Given the description of an element on the screen output the (x, y) to click on. 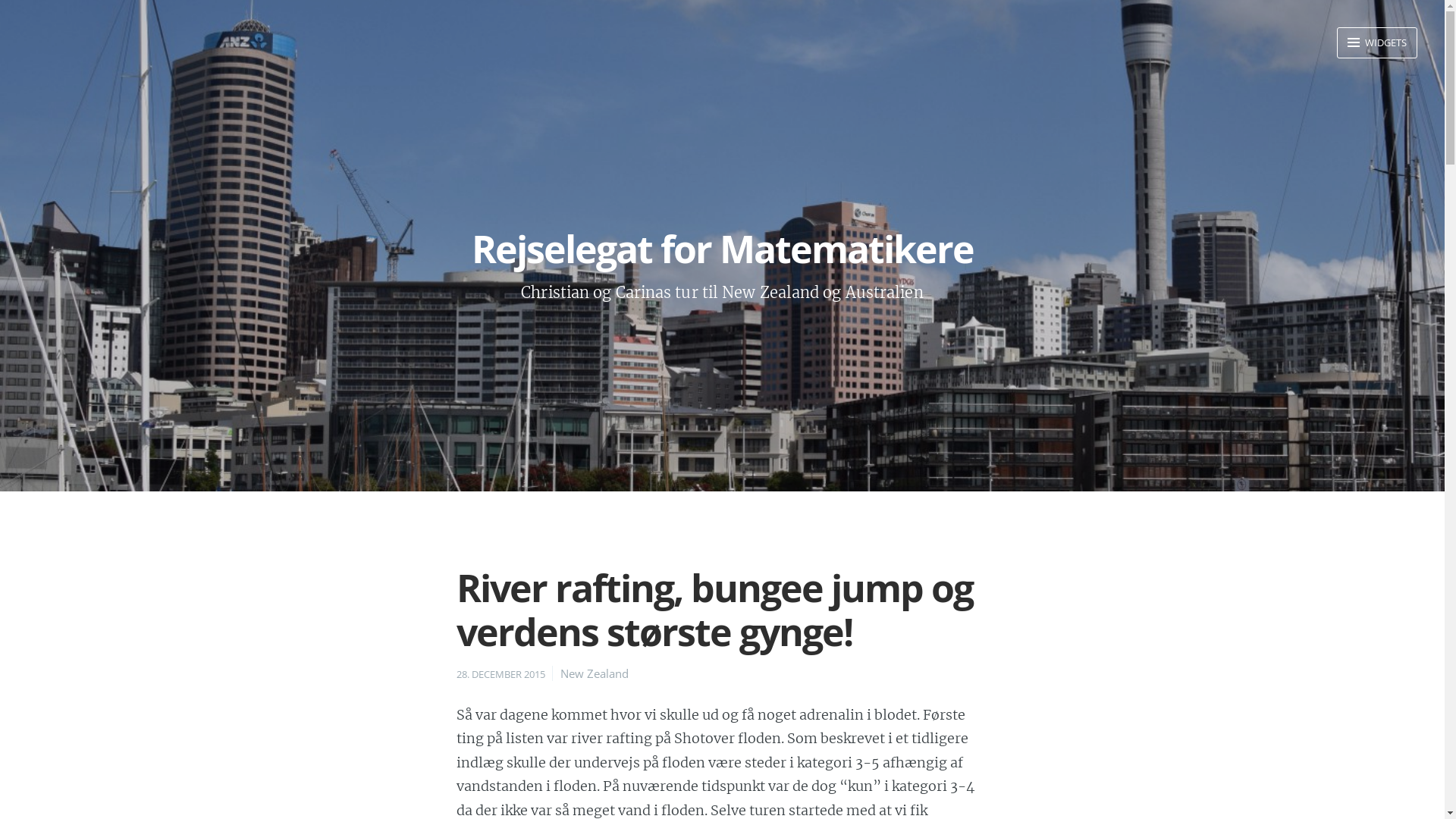
Skip to content Element type: text (0, 0)
WIDGETS Element type: text (1376, 42)
New Zealand Element type: text (593, 672)
Rejselegat for Matematikere Element type: text (722, 248)
28. DECEMBER 2015 Element type: text (500, 672)
